Given the description of an element on the screen output the (x, y) to click on. 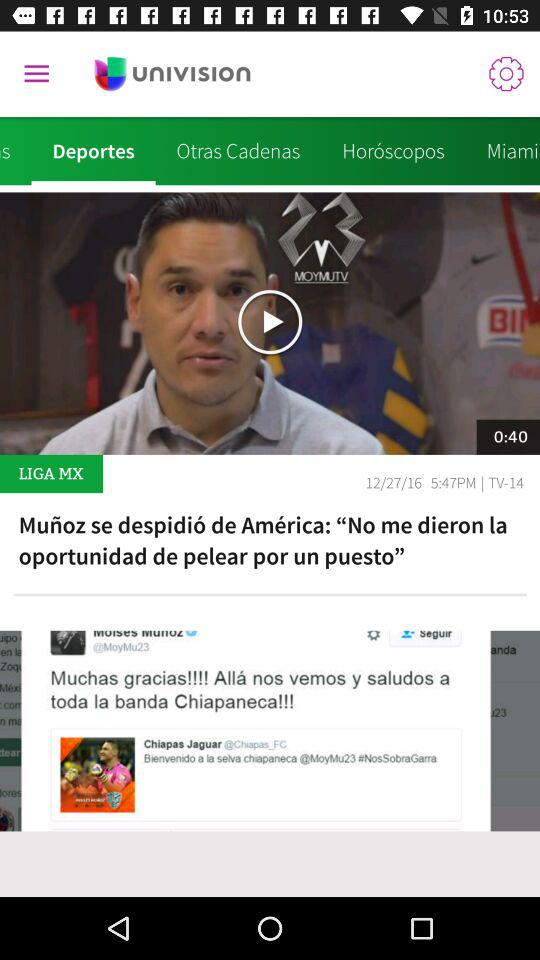
select icon above deportes item (36, 74)
